Given the description of an element on the screen output the (x, y) to click on. 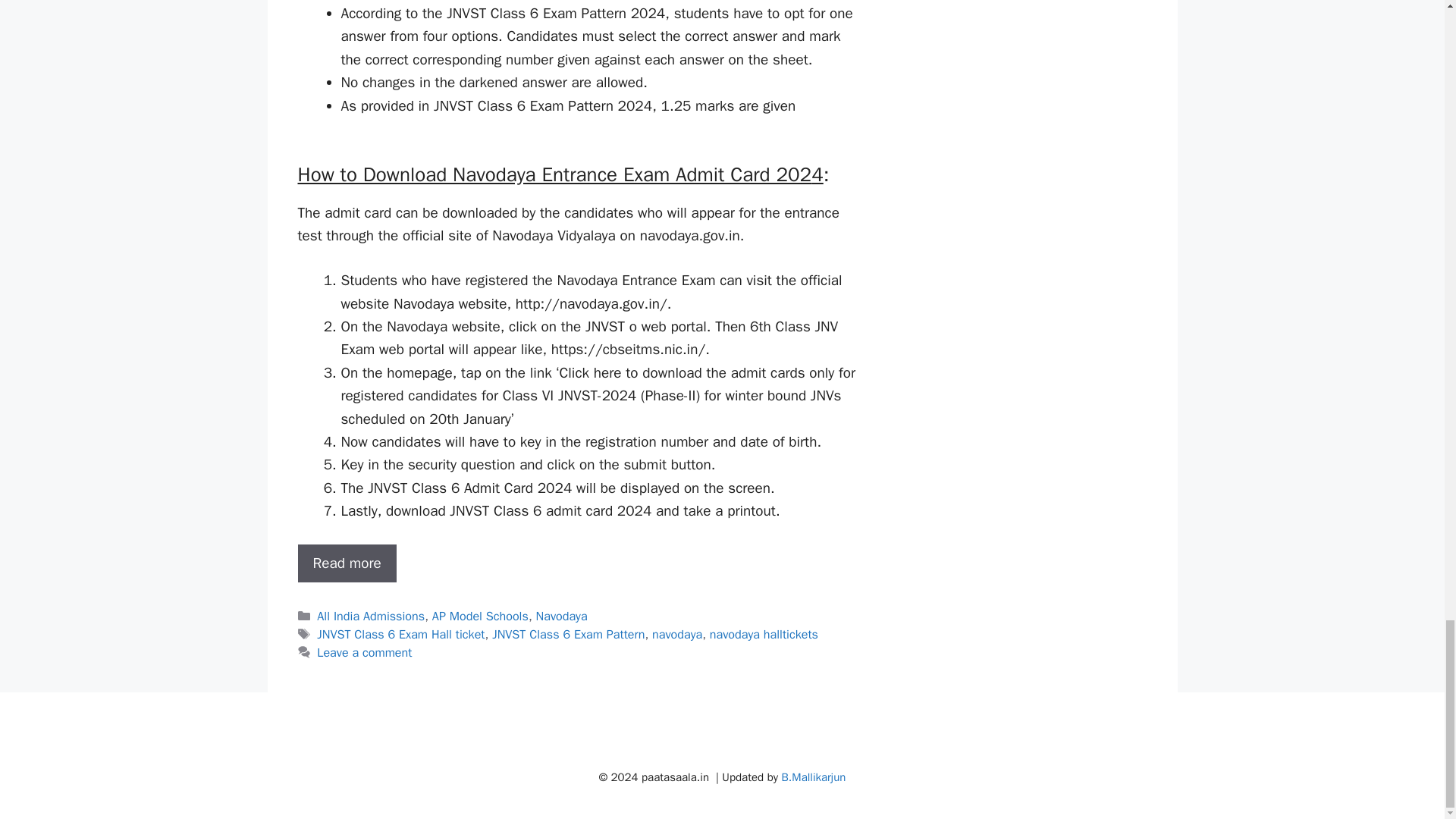
All India Admissions (371, 616)
navodaya (676, 634)
navodaya halltickets (764, 634)
B.Mallikarjun (813, 776)
Leave a comment (364, 652)
AP Model Schools (480, 616)
Read more (346, 563)
Navodaya (561, 616)
JNVST Class 6 Exam Hall ticket (400, 634)
JNVST Class 6 Exam Pattern (568, 634)
